Given the description of an element on the screen output the (x, y) to click on. 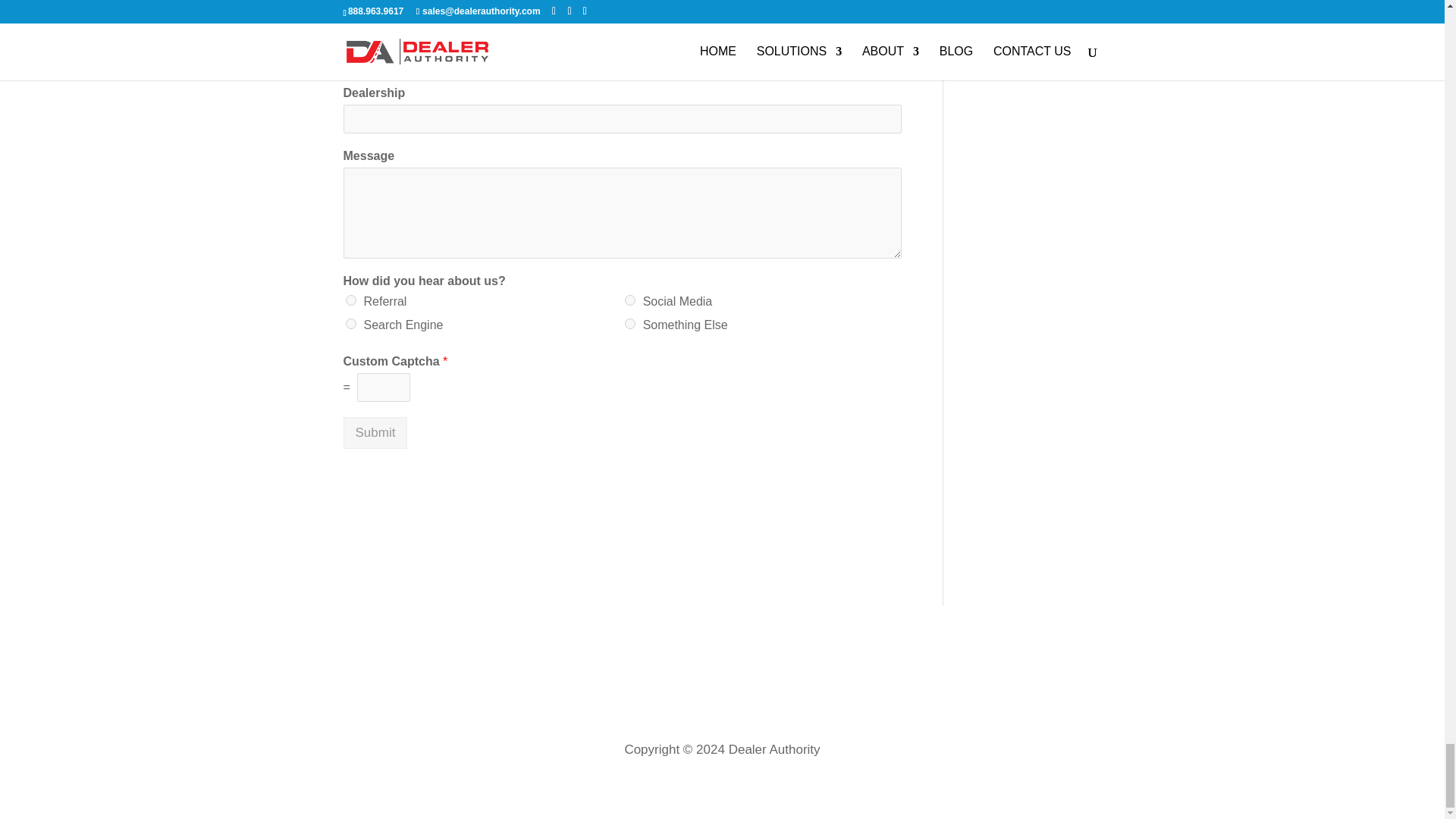
Social Media (629, 299)
Search Engine (351, 323)
Referral (351, 299)
Something Else (629, 323)
